Given the description of an element on the screen output the (x, y) to click on. 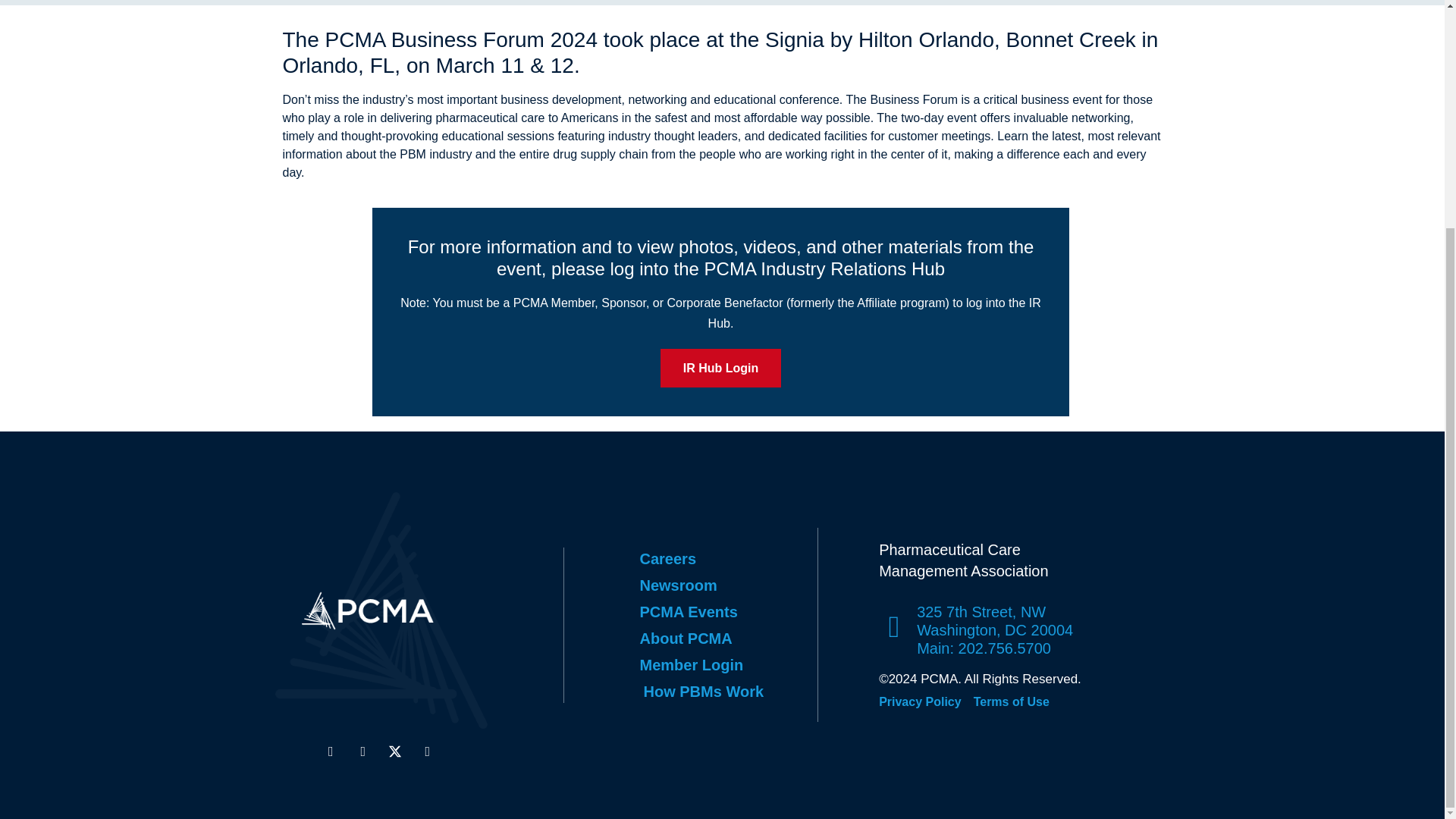
IR Hub Login (721, 367)
Newsroom (721, 585)
Return to Events (337, 2)
Privacy Policy (919, 701)
About PCMA (721, 638)
PCMA Events (721, 611)
How PBMs Work (721, 691)
Member Login (721, 664)
Terms of Use (1011, 701)
Careers (721, 558)
